Given the description of an element on the screen output the (x, y) to click on. 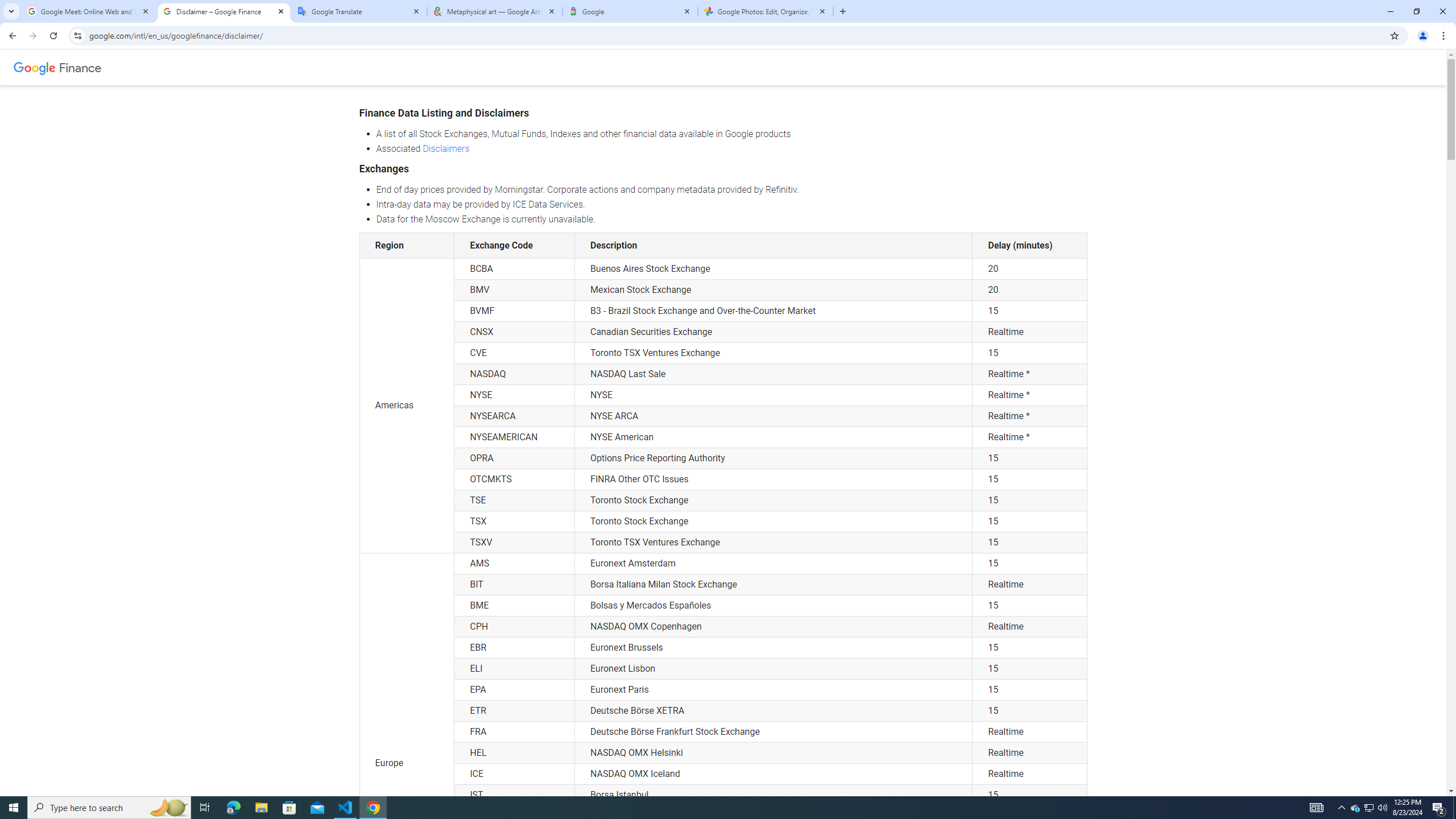
15 (1029, 794)
OPRA (514, 458)
NYSEARCA (514, 416)
Google Translate (359, 11)
BMV (514, 289)
EBR (514, 647)
Disclaimers (446, 147)
TSXV (514, 542)
ELI (514, 668)
OTCMKTS (514, 479)
Toronto Stock Exchange (773, 521)
